Given the description of an element on the screen output the (x, y) to click on. 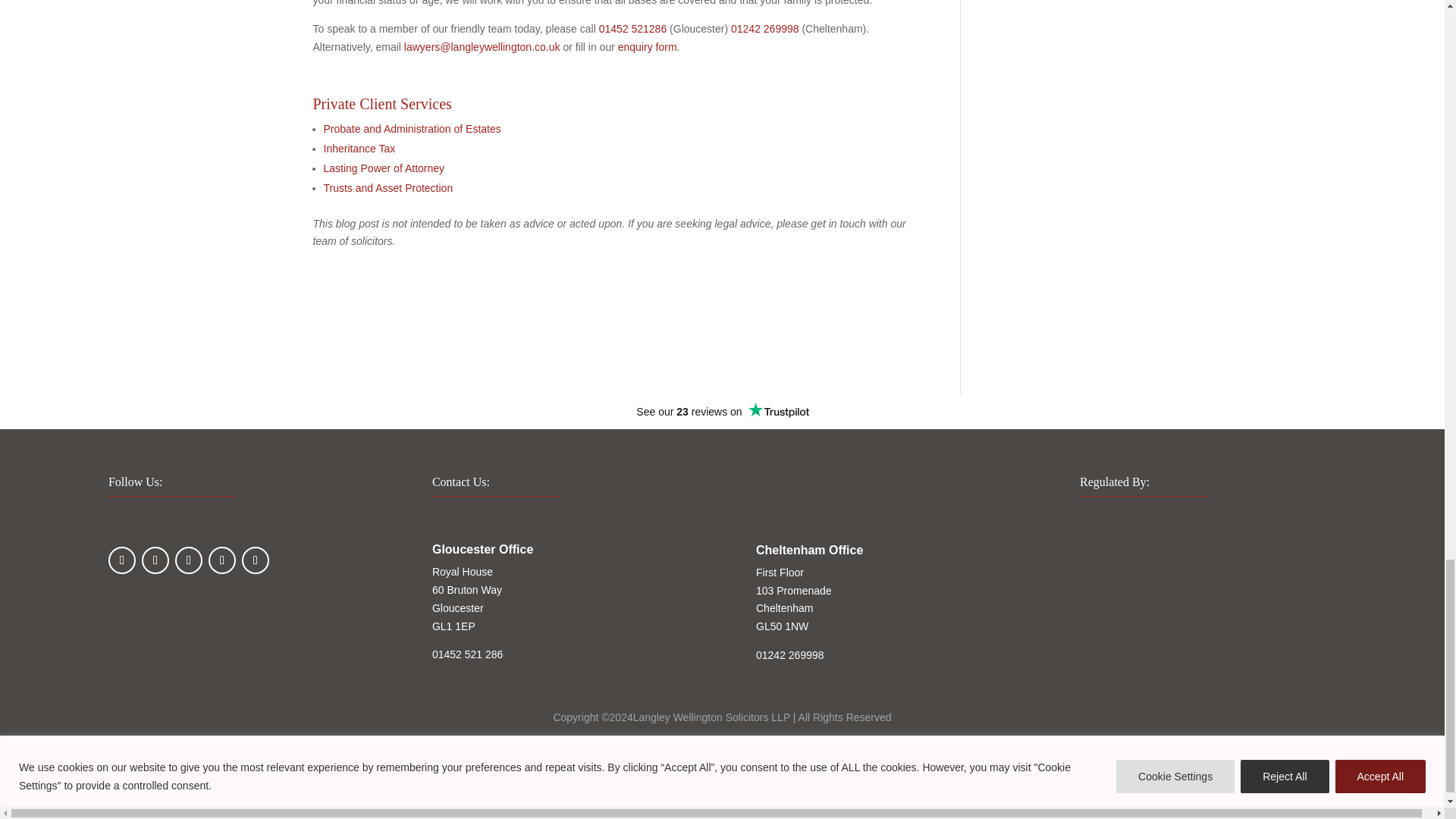
Follow on Youtube (255, 560)
Follow on Twitter (154, 560)
Follow on LinkedIn (221, 560)
Follow on Facebook (121, 560)
Follow on Instagram (188, 560)
Customer reviews powered by Trustpilot (722, 411)
